Given the description of an element on the screen output the (x, y) to click on. 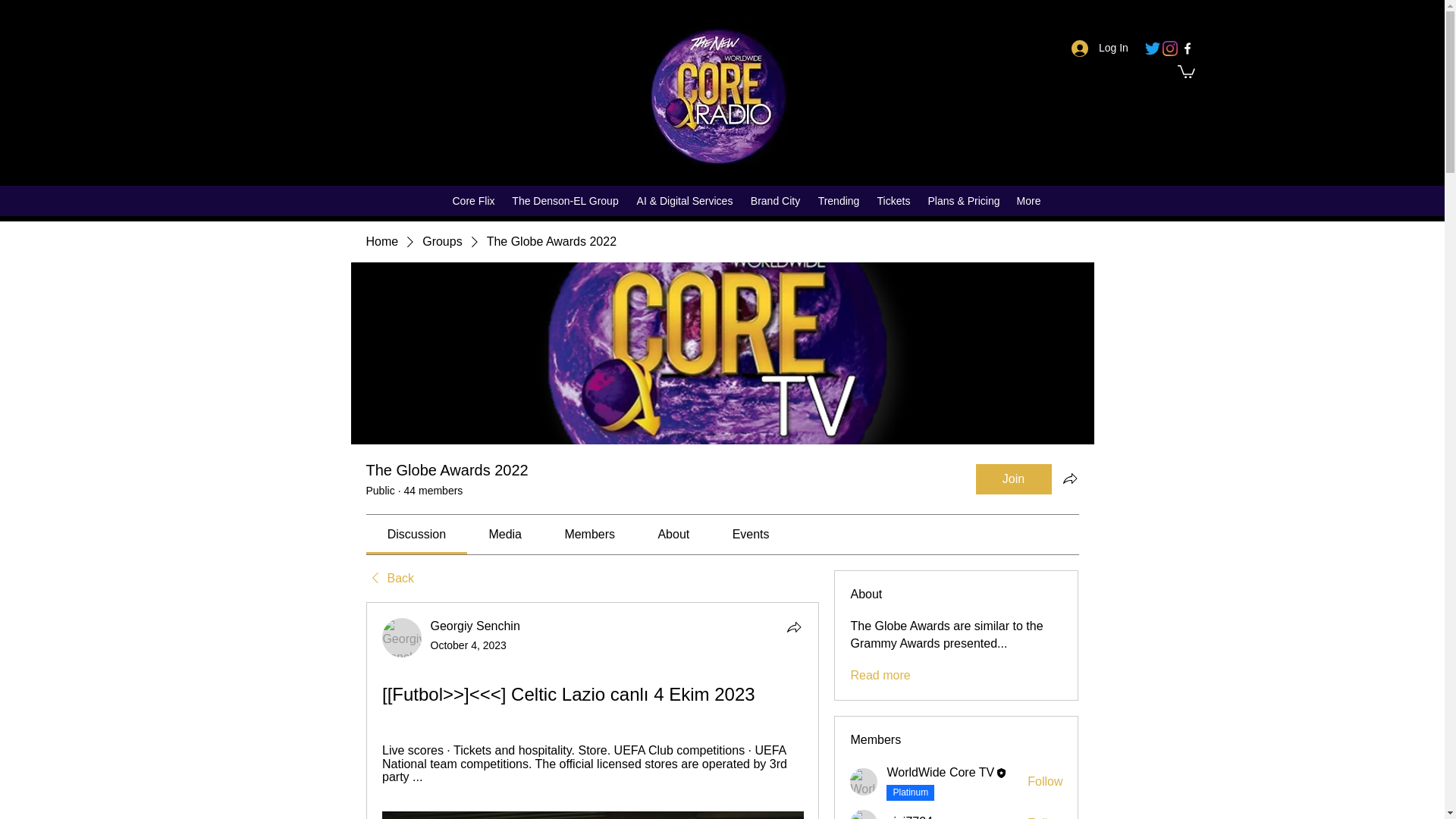
qiqi7724 (863, 814)
C.E.O. or other Officer (910, 792)
Core Flix (473, 200)
Trending (838, 200)
Brand City (775, 200)
WorldWide Core TV (863, 781)
The Denson-EL Group (564, 200)
Log In (1099, 48)
Tickets (892, 200)
Georgiy Senchin (401, 637)
